Given the description of an element on the screen output the (x, y) to click on. 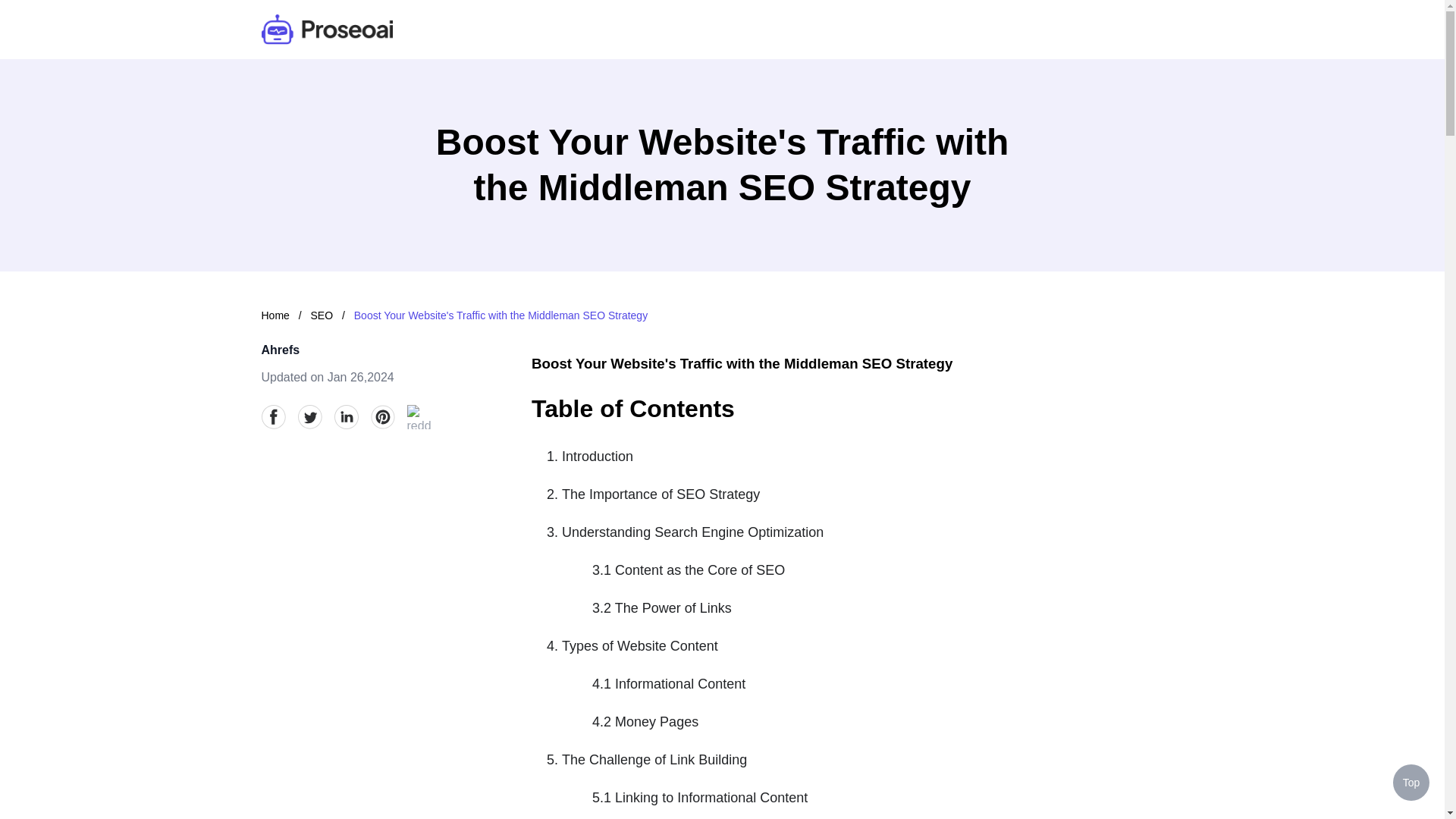
Home (274, 315)
linkedin (345, 416)
SEO (323, 315)
Ahrefs (279, 349)
Twitter (309, 416)
facebook (272, 416)
pinterest (381, 416)
reddit (418, 416)
